Given the description of an element on the screen output the (x, y) to click on. 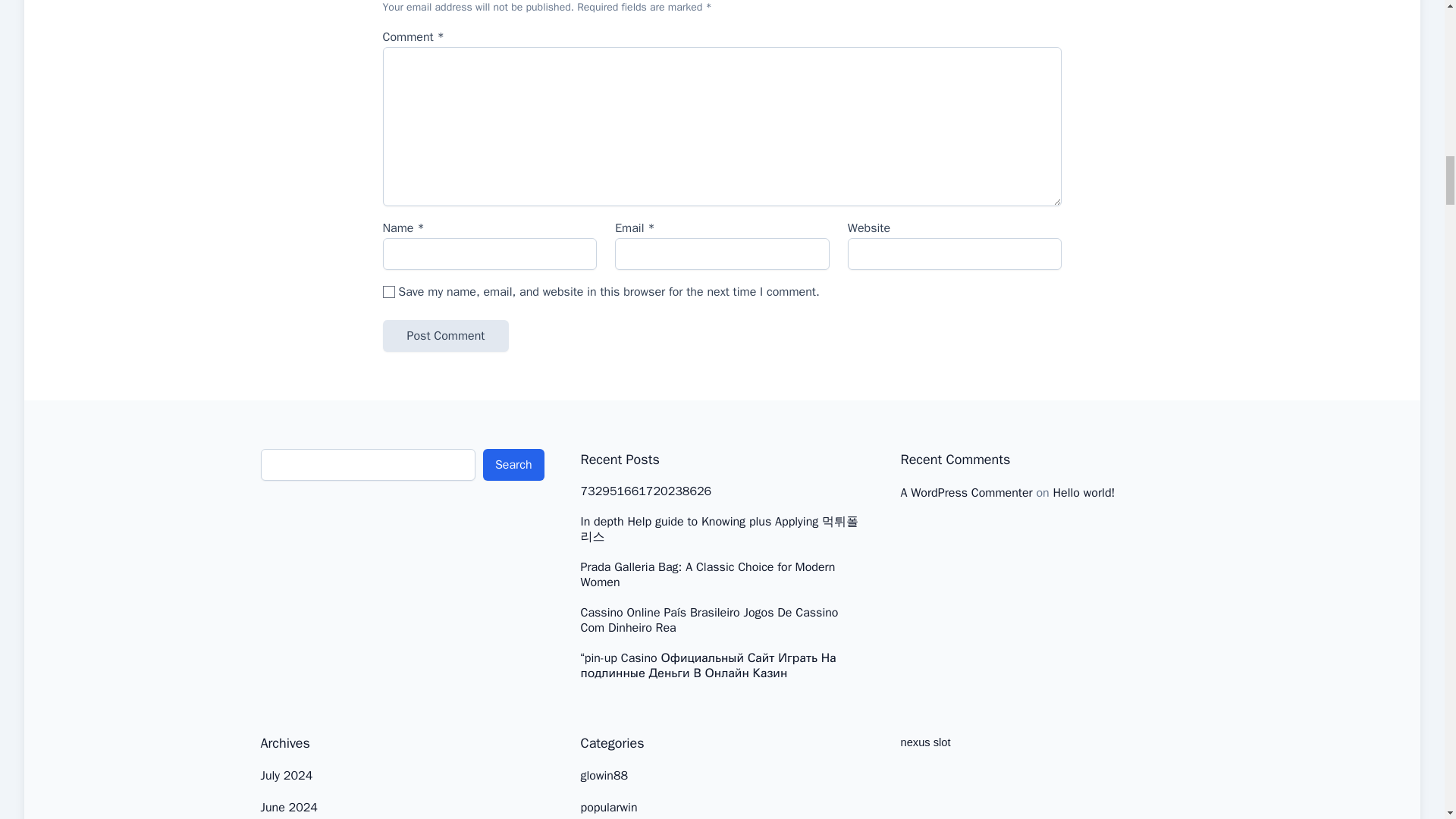
Post Comment (444, 336)
Post Comment (444, 336)
yes (387, 291)
Hello world! (1083, 492)
Prada Galleria Bag: A Classic Choice for Modern Women (722, 574)
July 2024 (286, 775)
June 2024 (288, 807)
Search (513, 464)
732951661720238626 (645, 491)
A WordPress Commenter (966, 492)
